Given the description of an element on the screen output the (x, y) to click on. 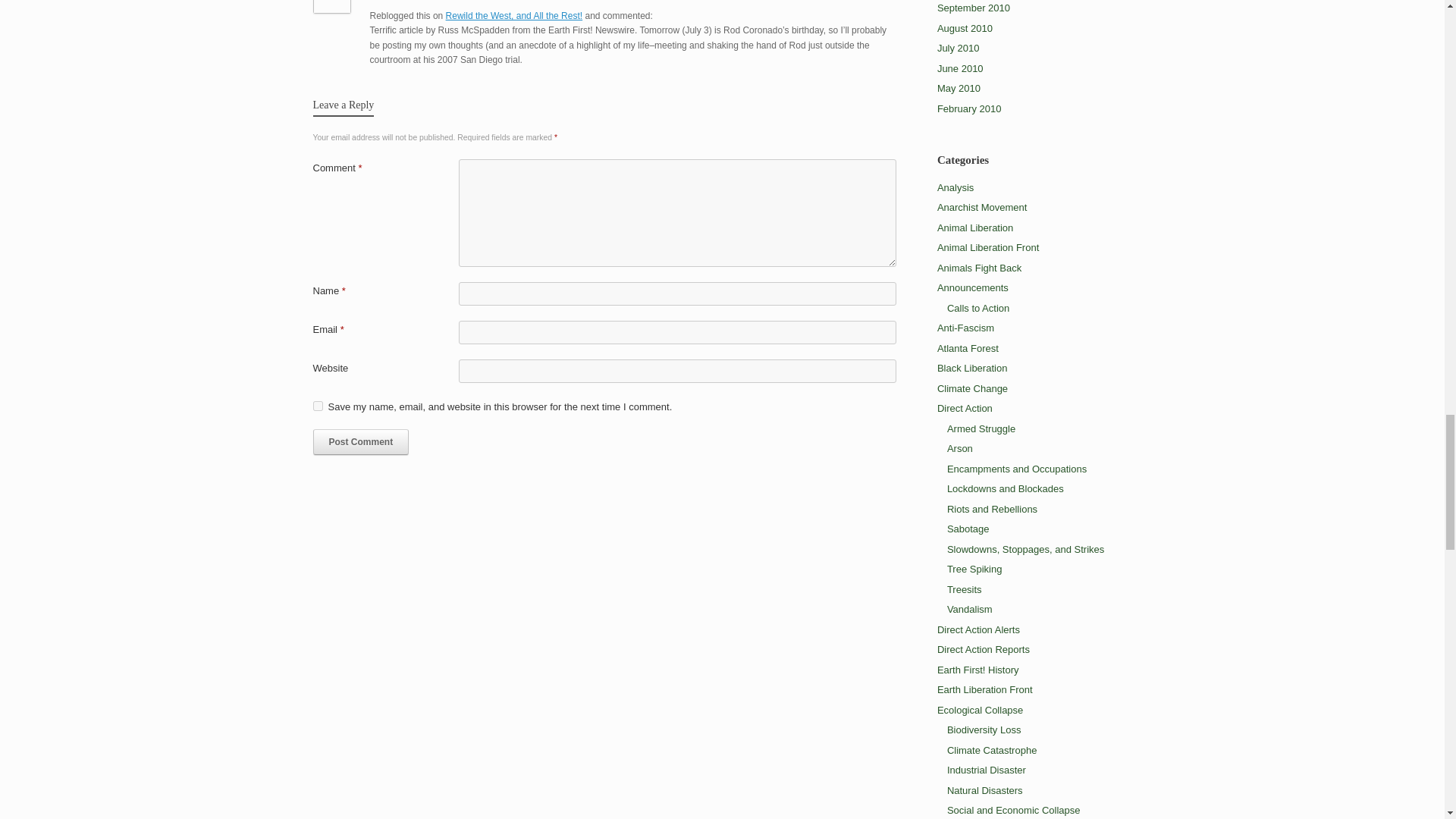
yes (317, 406)
Post Comment (361, 442)
